Given the description of an element on the screen output the (x, y) to click on. 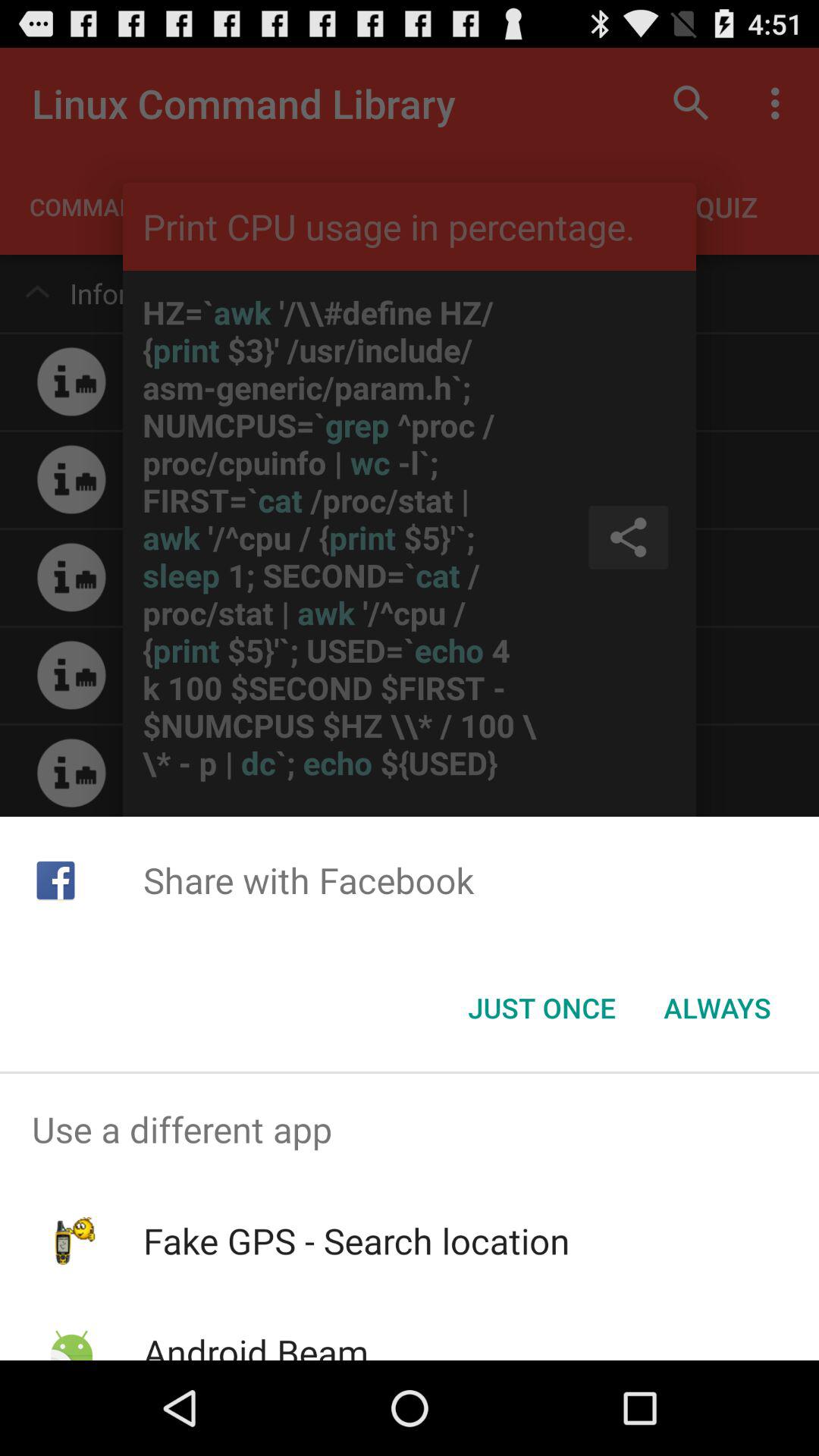
tap button next to the always (541, 1007)
